Given the description of an element on the screen output the (x, y) to click on. 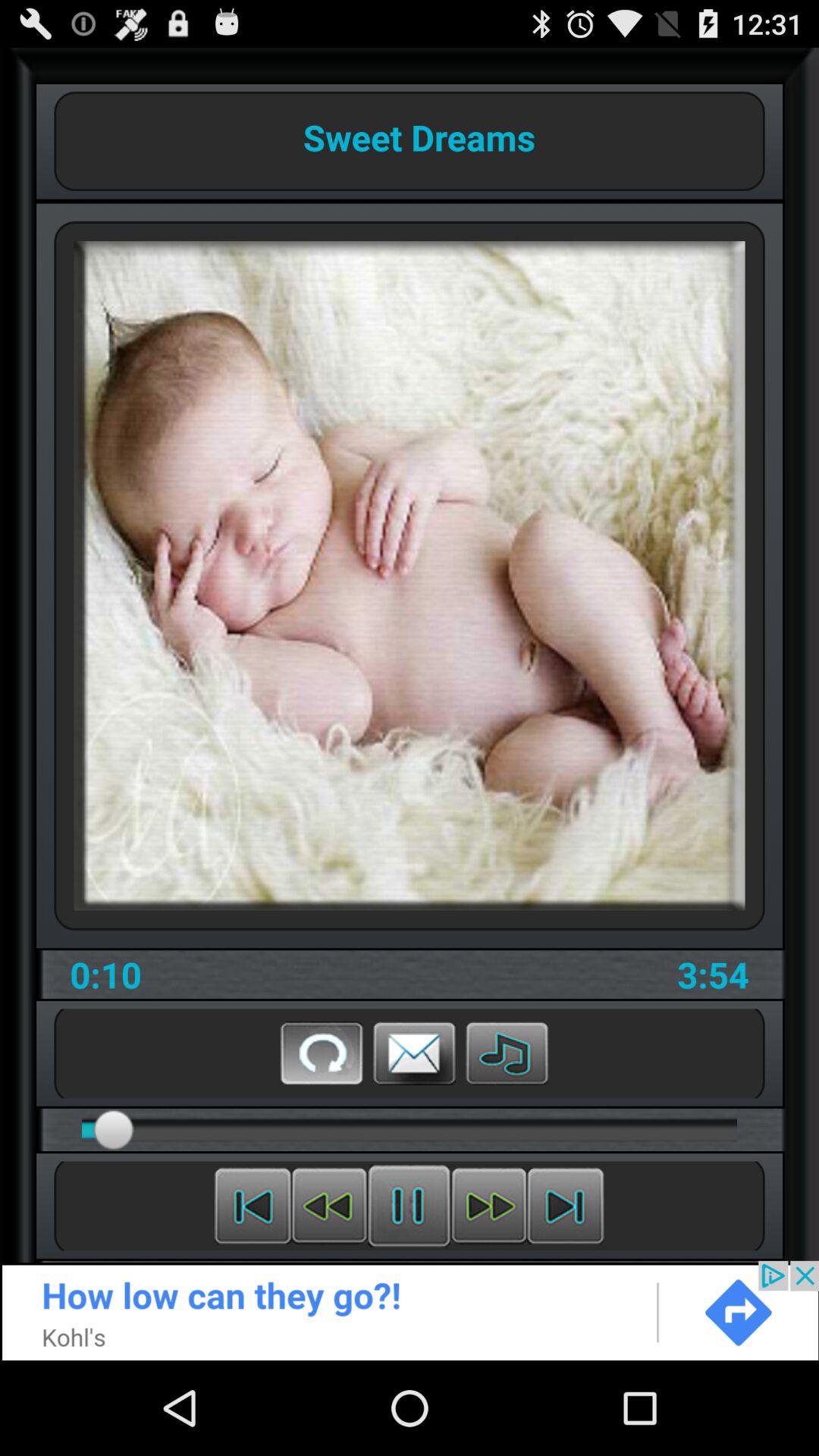
go to previous (252, 1205)
